Given the description of an element on the screen output the (x, y) to click on. 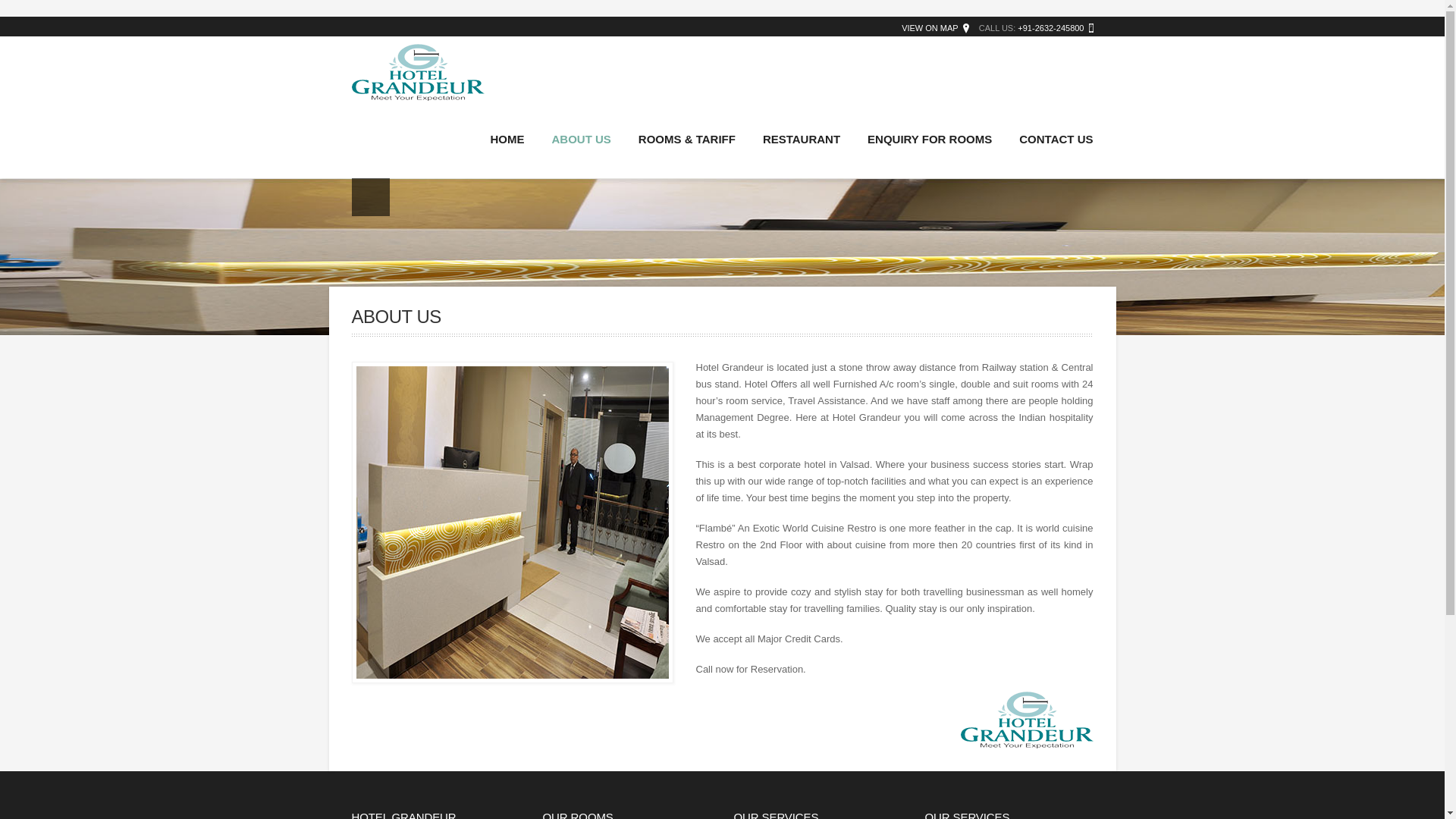
VIEW ON MAP (929, 27)
CONTACT US (1049, 139)
ABOUT US (580, 139)
RESTAURANT (801, 139)
ENQUIRY FOR ROOMS (929, 139)
